Given the description of an element on the screen output the (x, y) to click on. 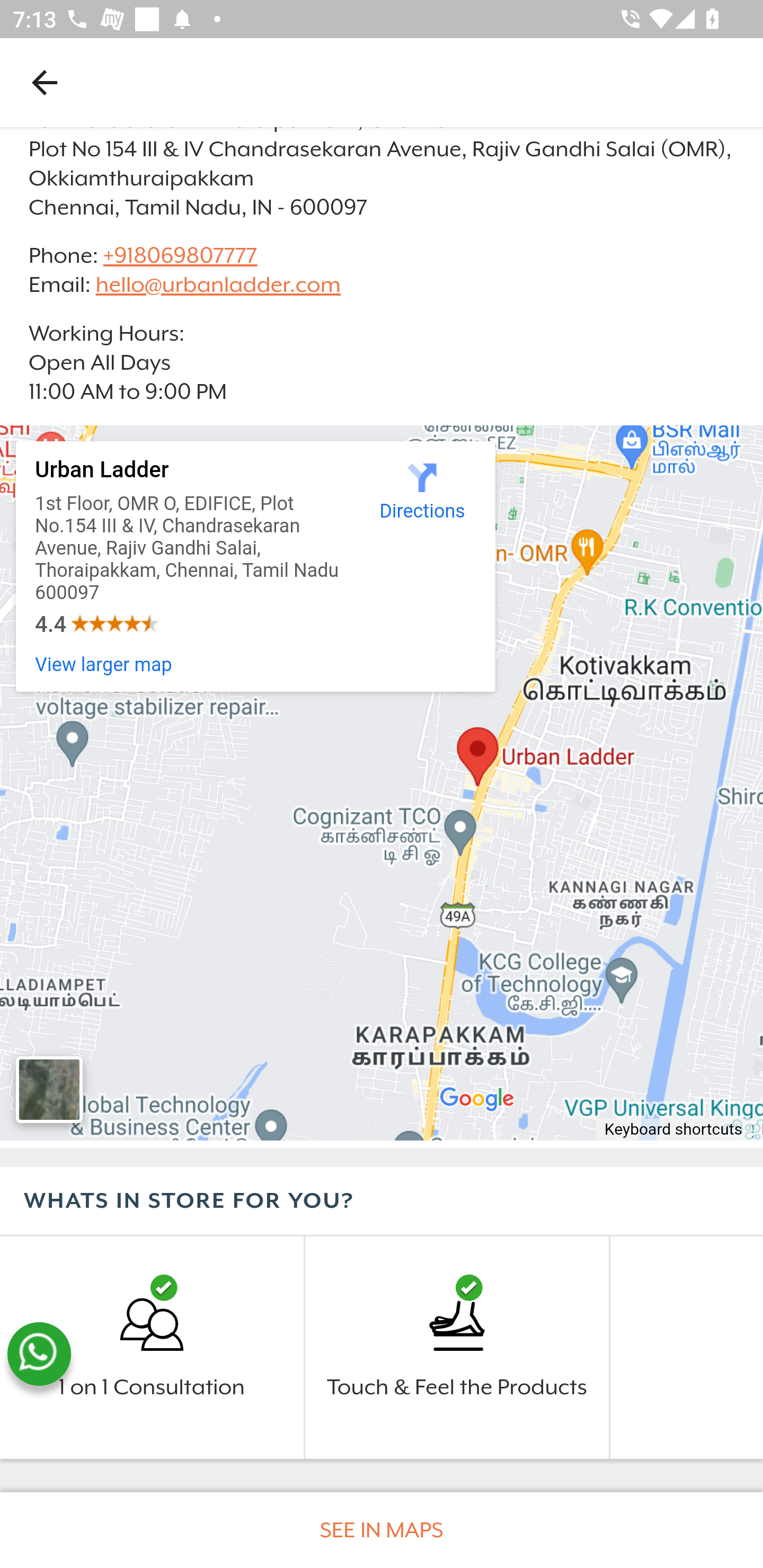
Navigate up (44, 82)
+918069807777 (179, 254)
hello@urbanladder.com (218, 285)
View larger map (104, 665)
Show satellite imagery (49, 1090)
Keyboard shortcuts (673, 1131)
whatsapp (38, 1353)
SEE IN MAPS (381, 1530)
